Given the description of an element on the screen output the (x, y) to click on. 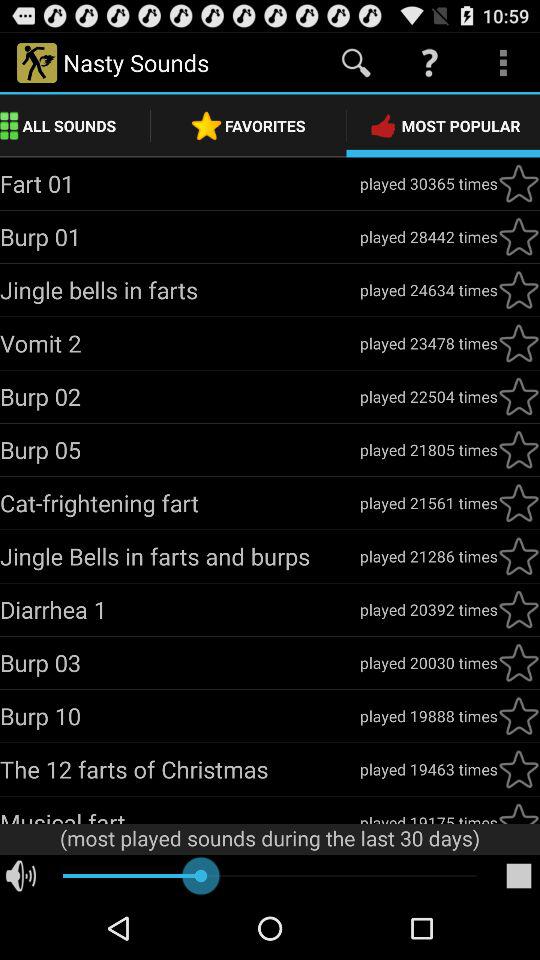
press icon to the right of jingle bells in item (428, 289)
